Given the description of an element on the screen output the (x, y) to click on. 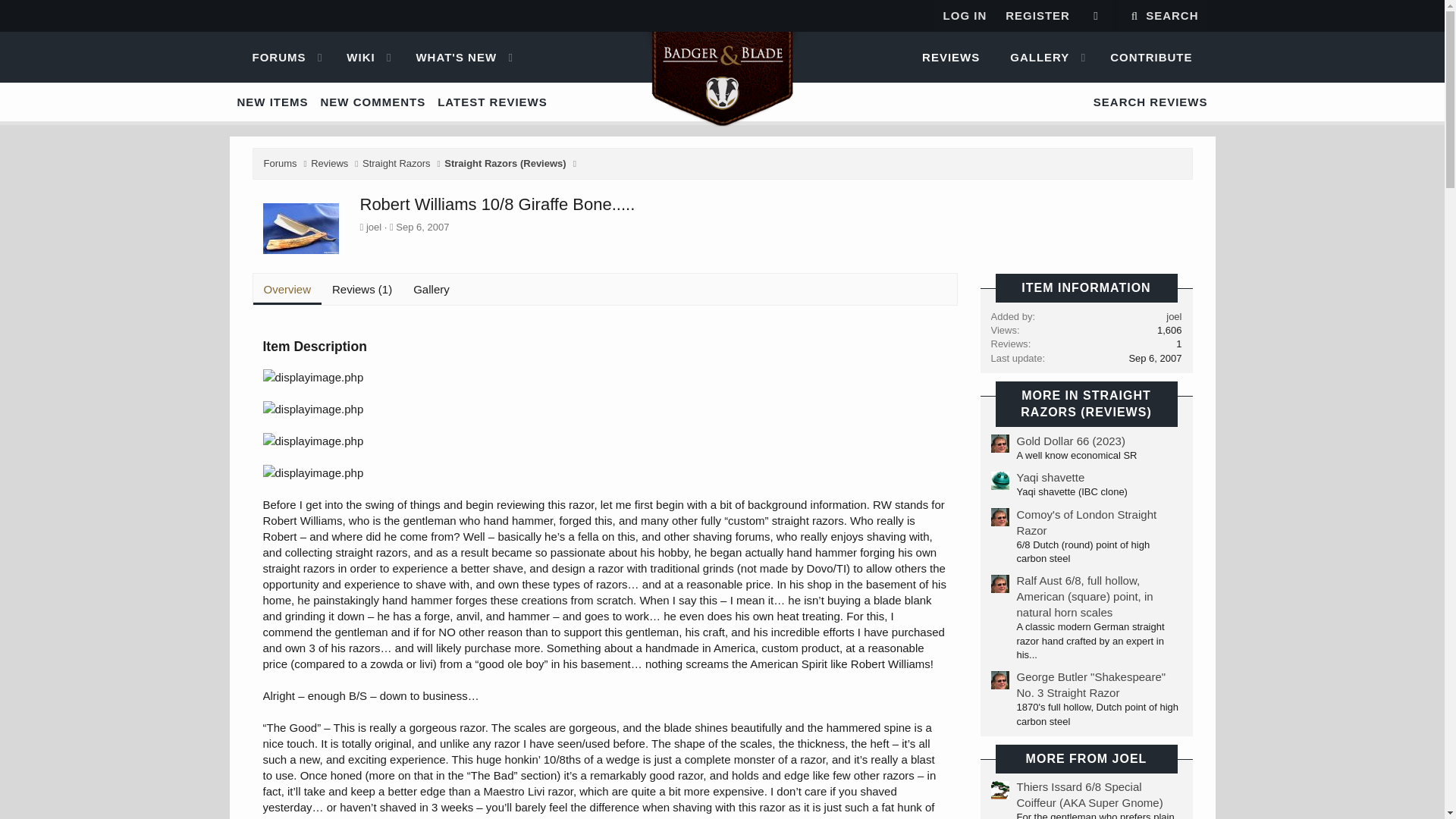
SEARCH (1163, 15)
CONTRIBUTE (721, 56)
WIKI (1150, 56)
Lights off! (354, 56)
Wiki (1095, 15)
displayimage.php (354, 56)
Sep 6, 2007 at 12:25 PM (721, 56)
LOG IN (312, 472)
